Given the description of an element on the screen output the (x, y) to click on. 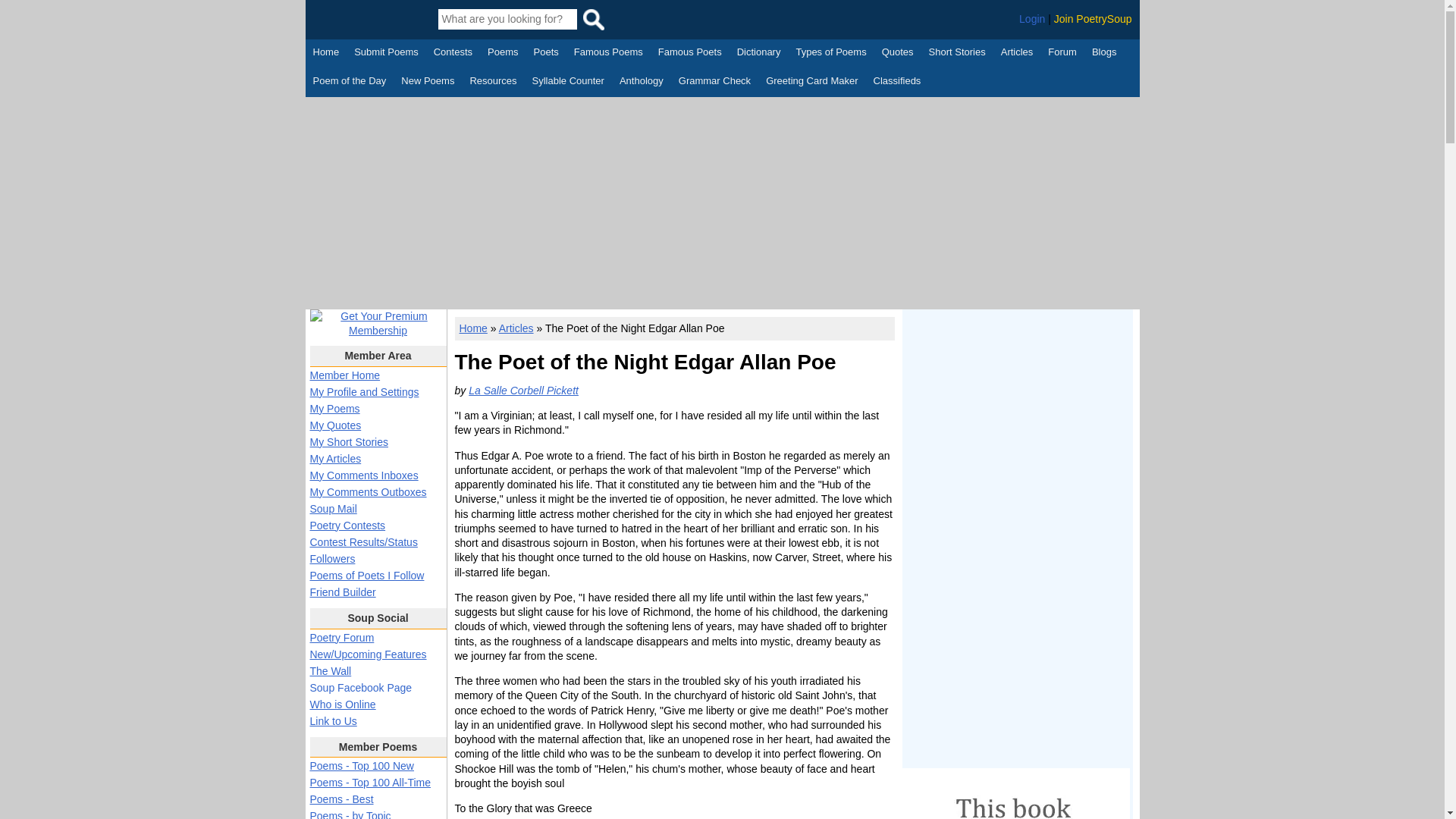
Forum (1062, 53)
Submit Poems (386, 53)
Login (1032, 19)
Poems (502, 53)
Home (326, 53)
Famous Poets (690, 53)
Poets (546, 53)
Classifieds (897, 82)
PoetrySoup Home Page (369, 19)
Poem of the Day (349, 82)
